Given the description of an element on the screen output the (x, y) to click on. 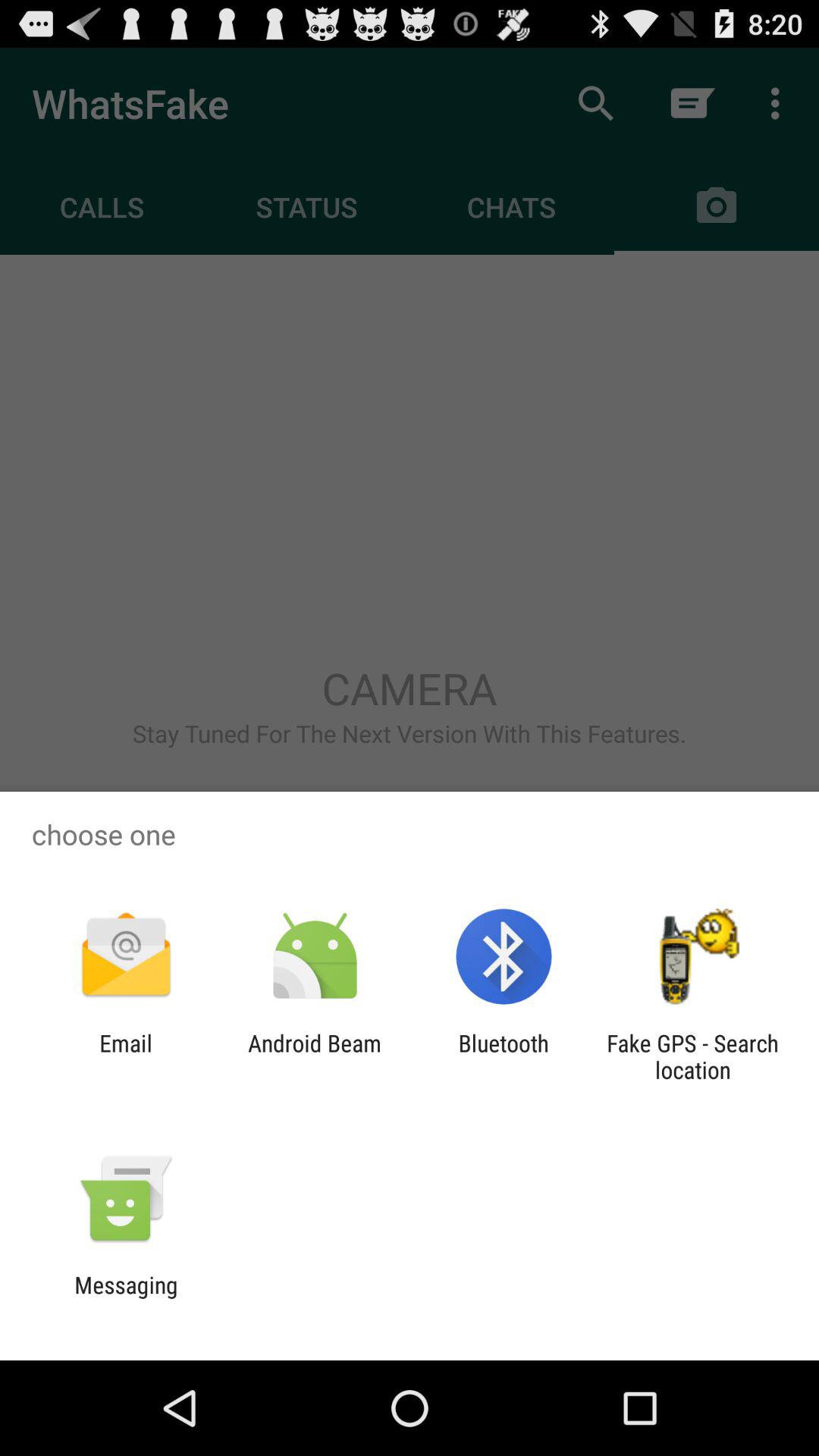
jump until the email app (125, 1056)
